Given the description of an element on the screen output the (x, y) to click on. 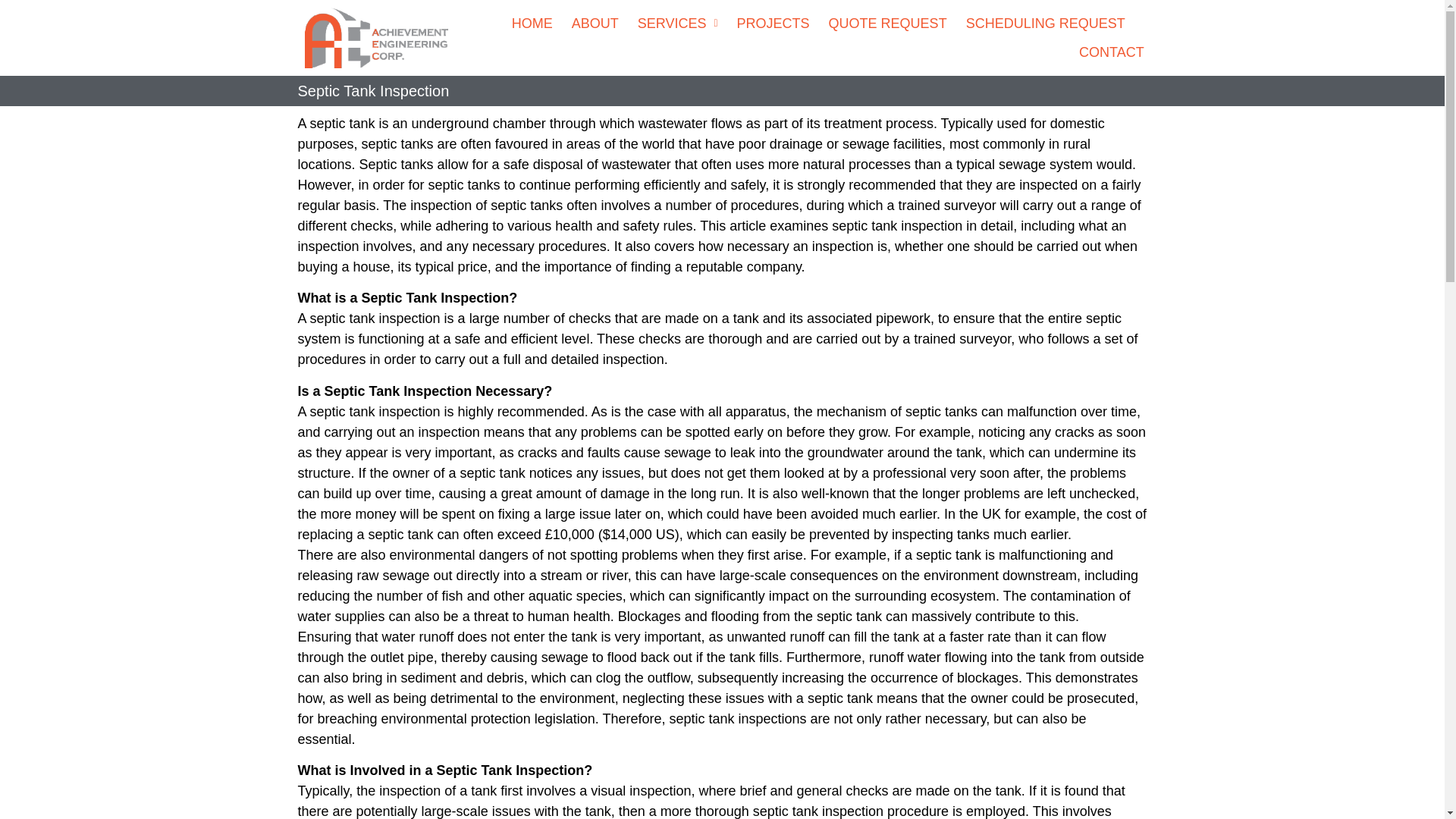
SERVICES (677, 23)
SCHEDULING REQUEST (1045, 23)
HOME (532, 23)
PROJECTS (772, 23)
QUOTE REQUEST (887, 23)
ABOUT (595, 23)
Services (677, 23)
CONTACT (1111, 51)
